Given the description of an element on the screen output the (x, y) to click on. 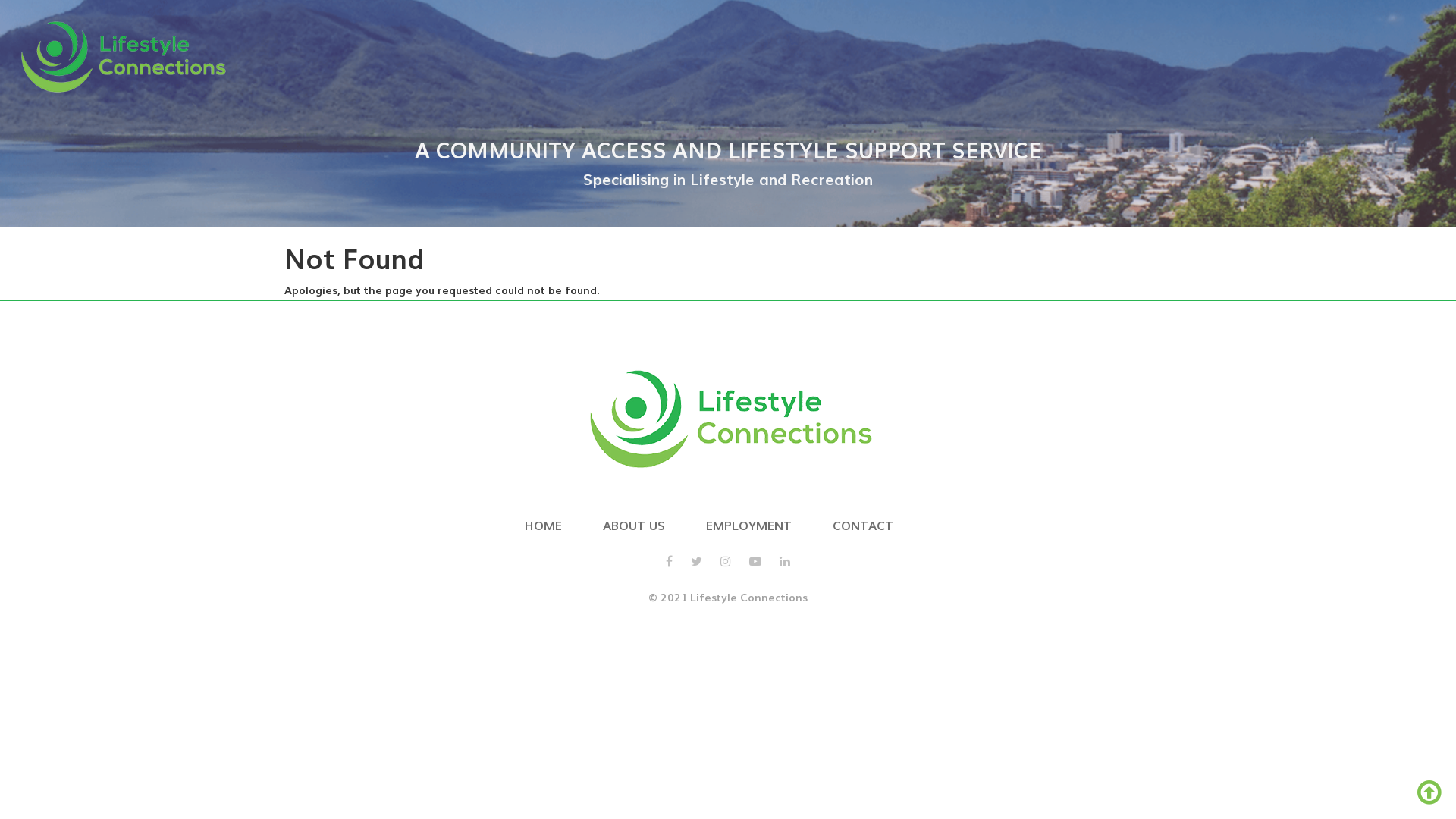
ABOUT US Element type: text (633, 524)
CONTACT Element type: text (862, 524)
Lifestyle Connections Association Inc. Element type: hover (121, 54)
EMPLOYMENT Element type: text (748, 524)
HOME Element type: text (542, 524)
